Given the description of an element on the screen output the (x, y) to click on. 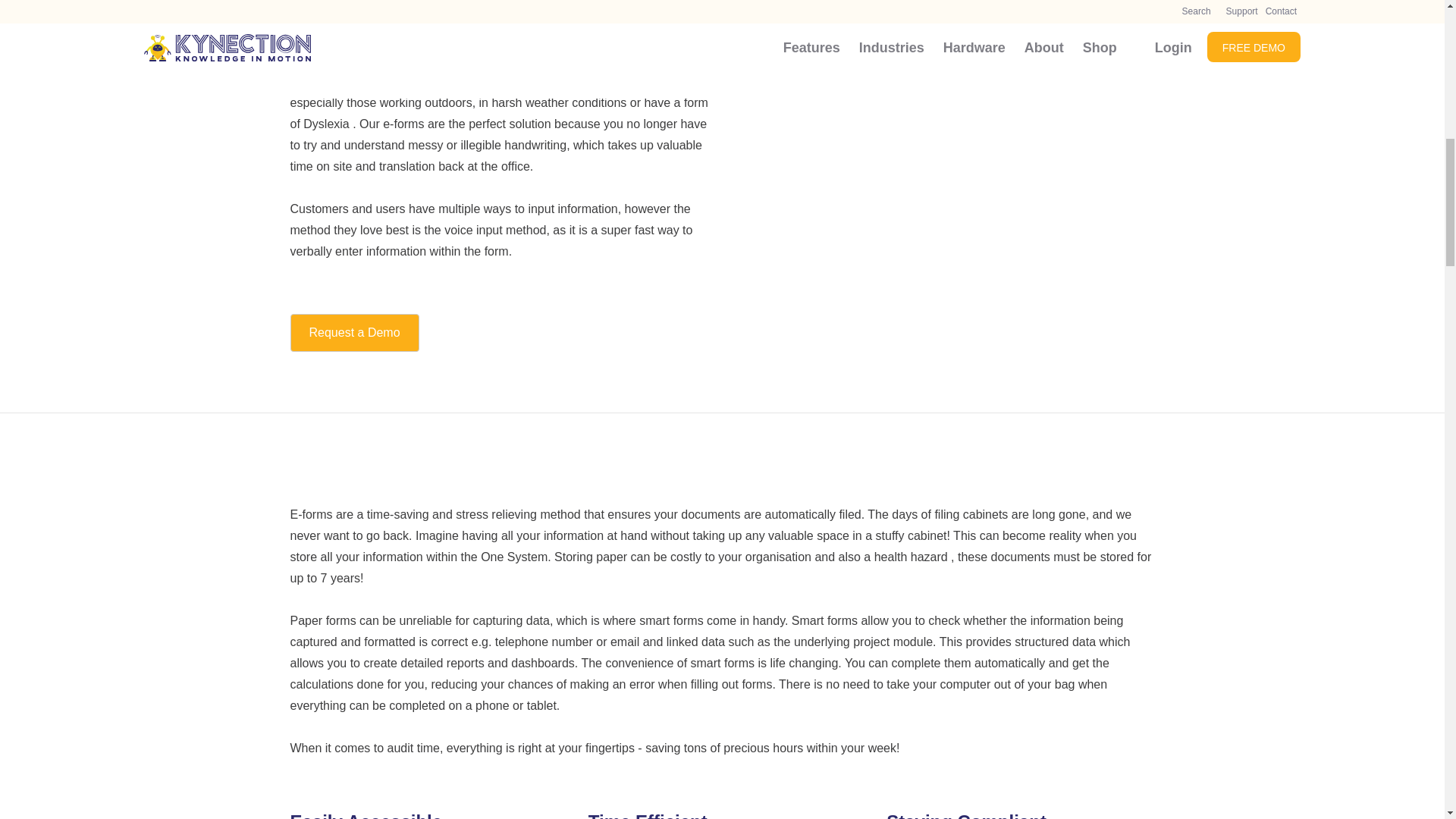
eForms GIF (944, 97)
